Given the description of an element on the screen output the (x, y) to click on. 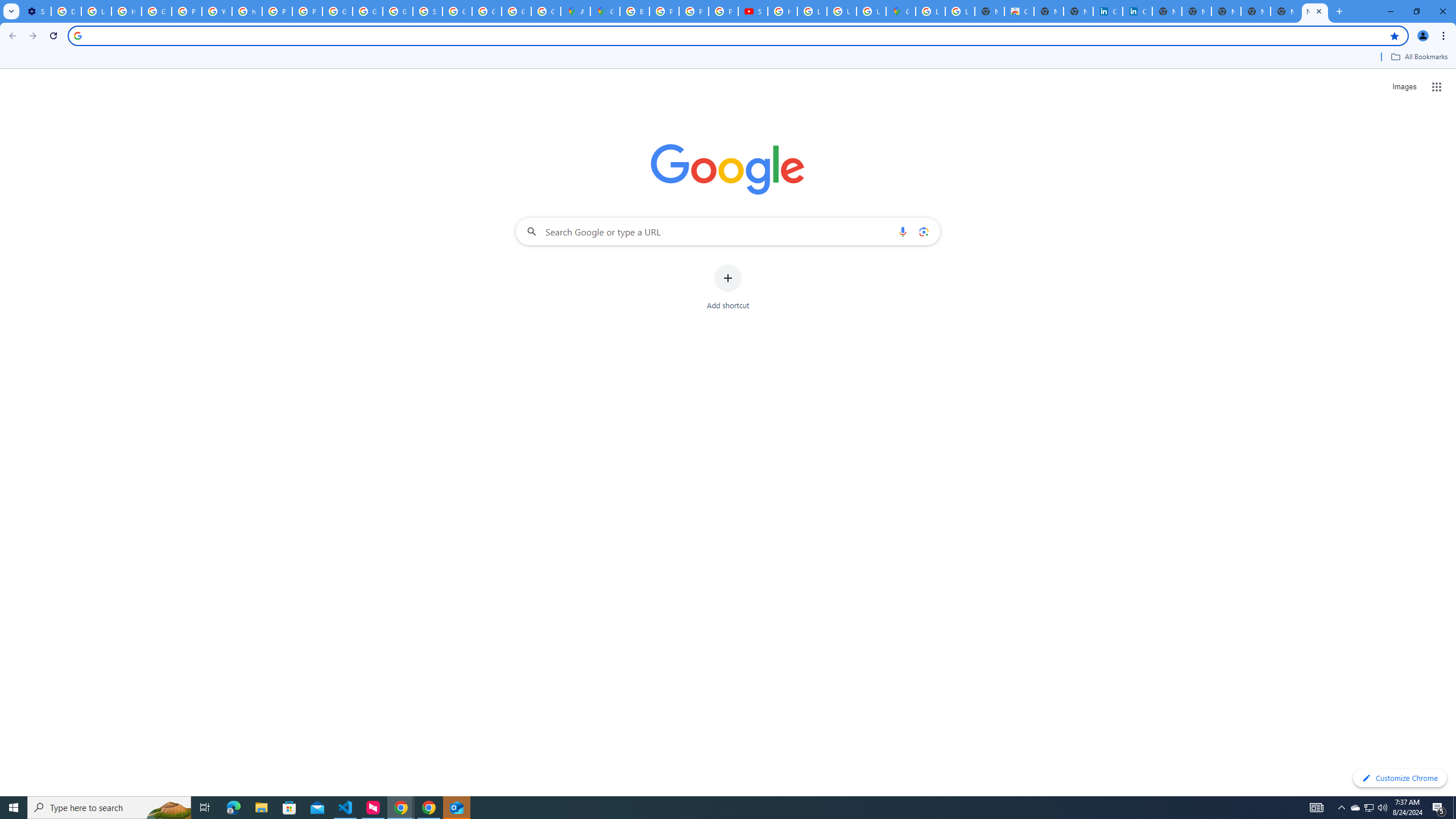
Subscriptions - YouTube (753, 11)
Cookie Policy | LinkedIn (1107, 11)
Privacy Help Center - Policies Help (277, 11)
How Chrome protects your passwords - Google Chrome Help (782, 11)
Chrome Web Store (1018, 11)
